Given the description of an element on the screen output the (x, y) to click on. 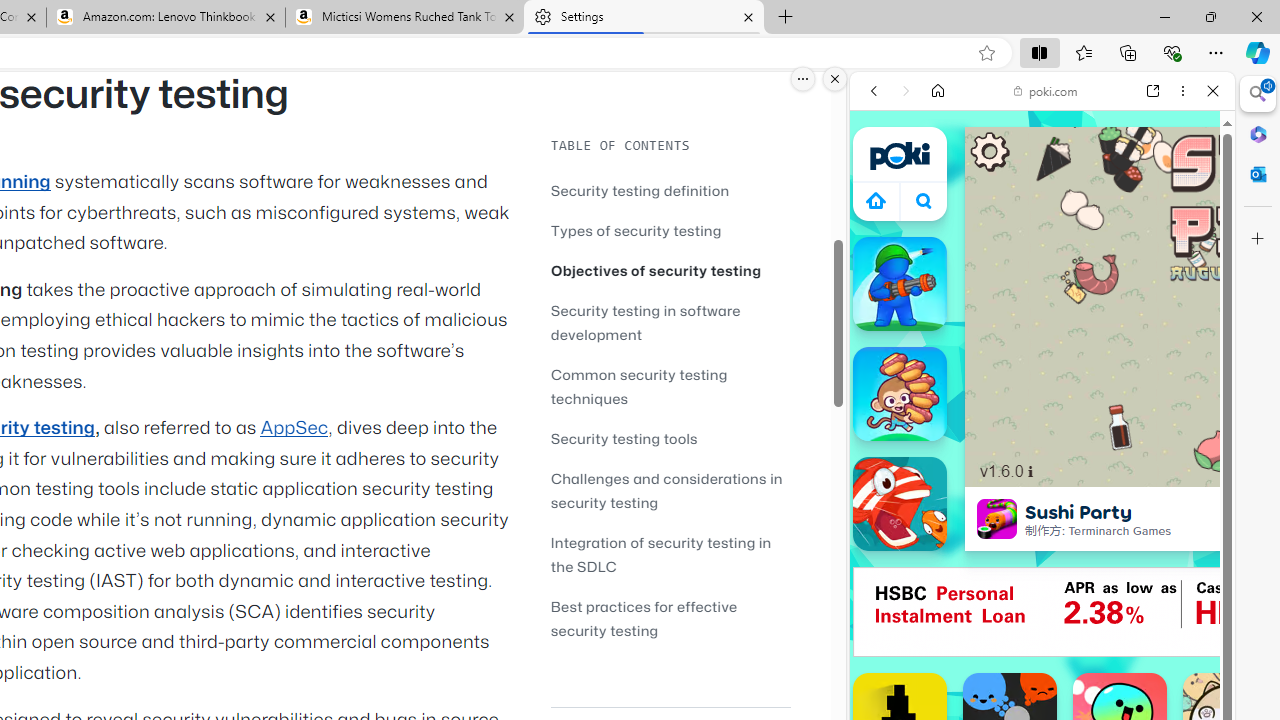
Objectives of security testing (670, 269)
Io Games (1042, 617)
Integration of security testing in the SDLC (670, 553)
Show More Two Player Games (1164, 570)
War Master War Master (899, 283)
Fish Eat Fish Fish Eat Fish (899, 503)
Class: hvLtMSipvVng82x9Seuh (997, 519)
